Given the description of an element on the screen output the (x, y) to click on. 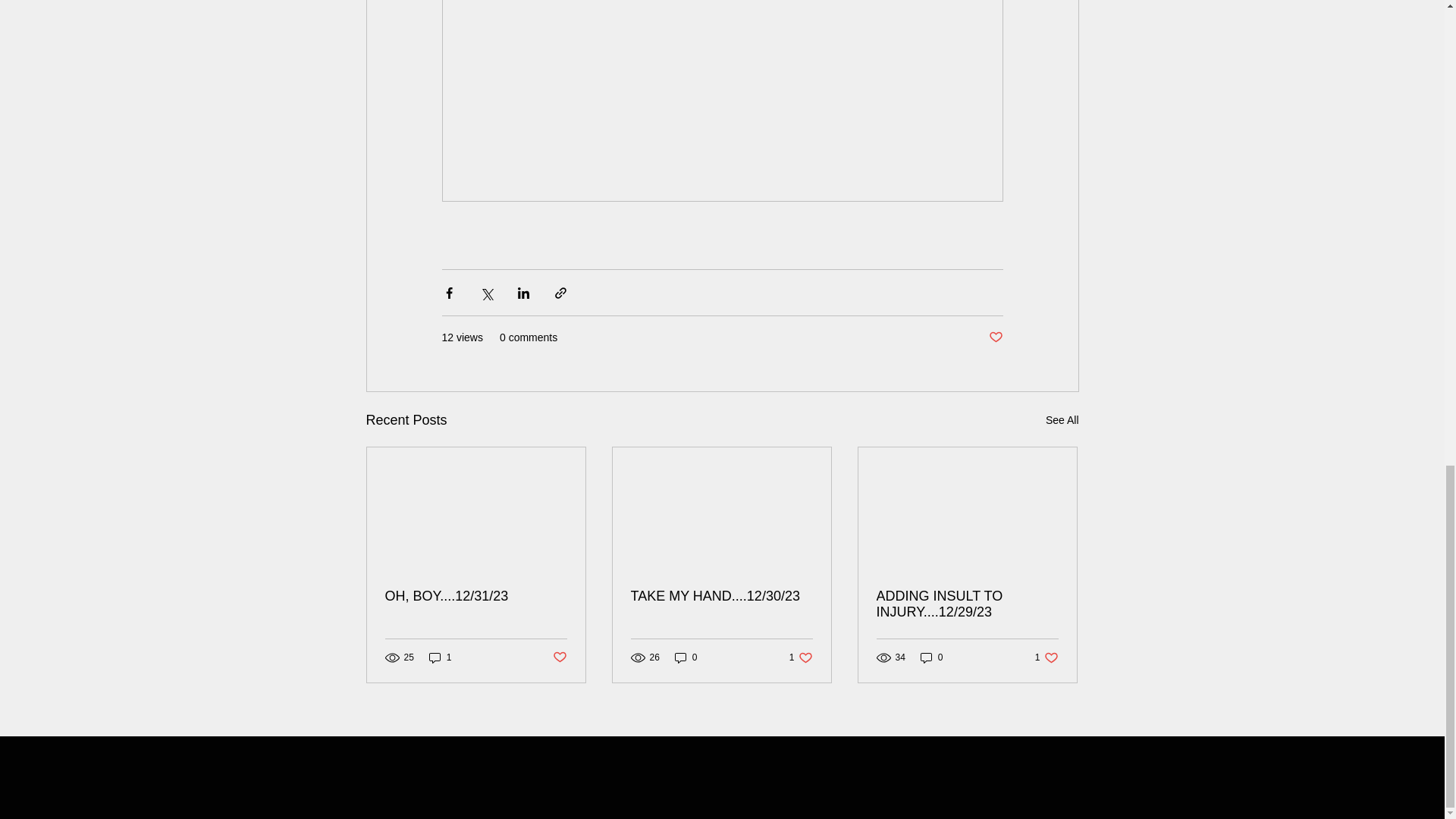
1 (440, 657)
Post not marked as liked (558, 657)
0 (685, 657)
See All (1046, 657)
0 (1061, 420)
Post not marked as liked (931, 657)
